Given the description of an element on the screen output the (x, y) to click on. 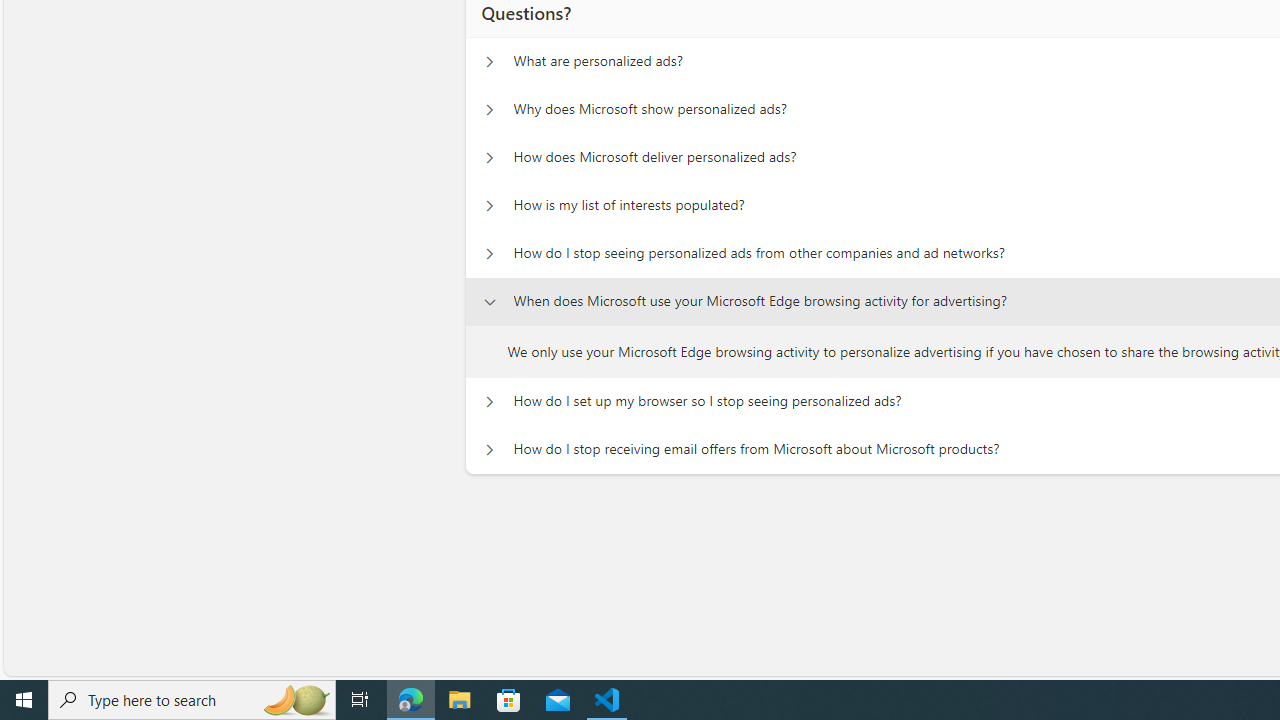
Questions? What are personalized ads? (489, 62)
Questions? How is my list of interests populated? (489, 206)
Questions? How does Microsoft deliver personalized ads? (489, 157)
Questions? Why does Microsoft show personalized ads? (489, 110)
